Given the description of an element on the screen output the (x, y) to click on. 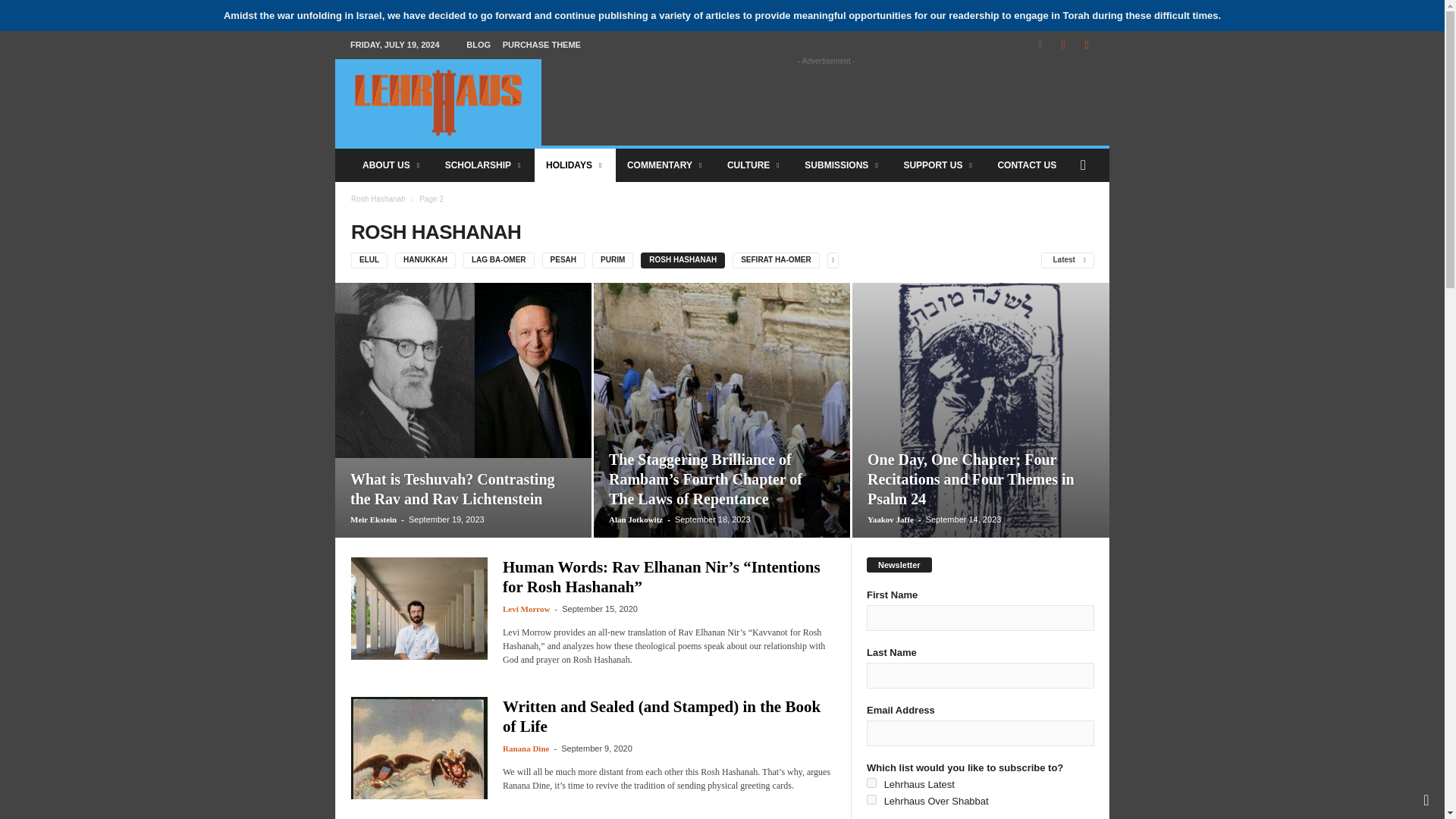
256740327f (871, 799)
What is Teshuvah? Contrasting the Rav and Rav Lichtenstein (462, 369)
Facebook (1039, 45)
Linkedin (1062, 45)
Twitter (1086, 45)
5eab81bd4c (871, 782)
What is Teshuvah? Contrasting the Rav and Rav Lichtenstein (452, 488)
